Given the description of an element on the screen output the (x, y) to click on. 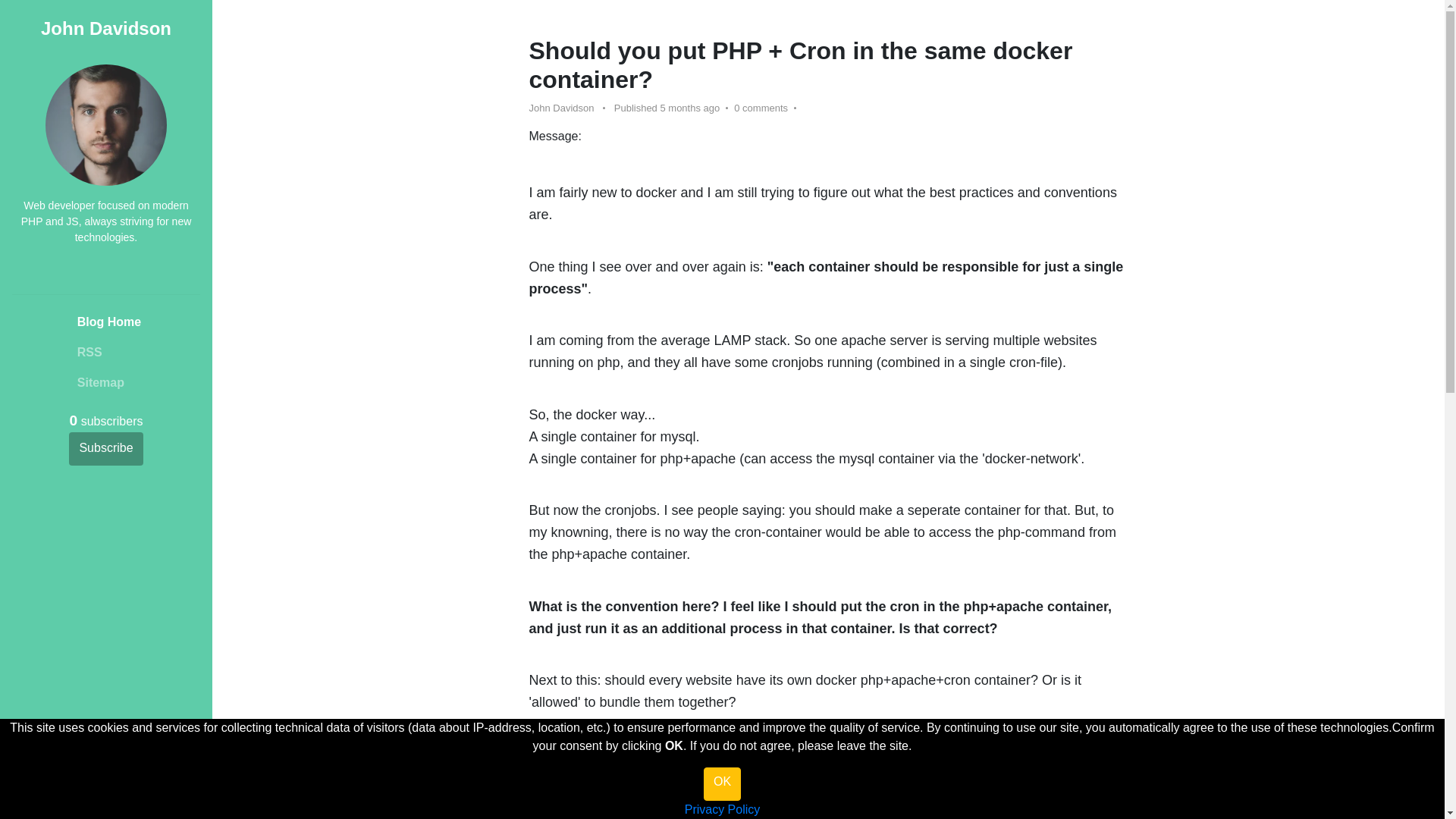
RSS (106, 352)
Subscribe (105, 449)
John Davidson (105, 28)
OK (722, 783)
Privacy Policy (722, 809)
0 comments (760, 107)
Sitemap (106, 382)
